Given the description of an element on the screen output the (x, y) to click on. 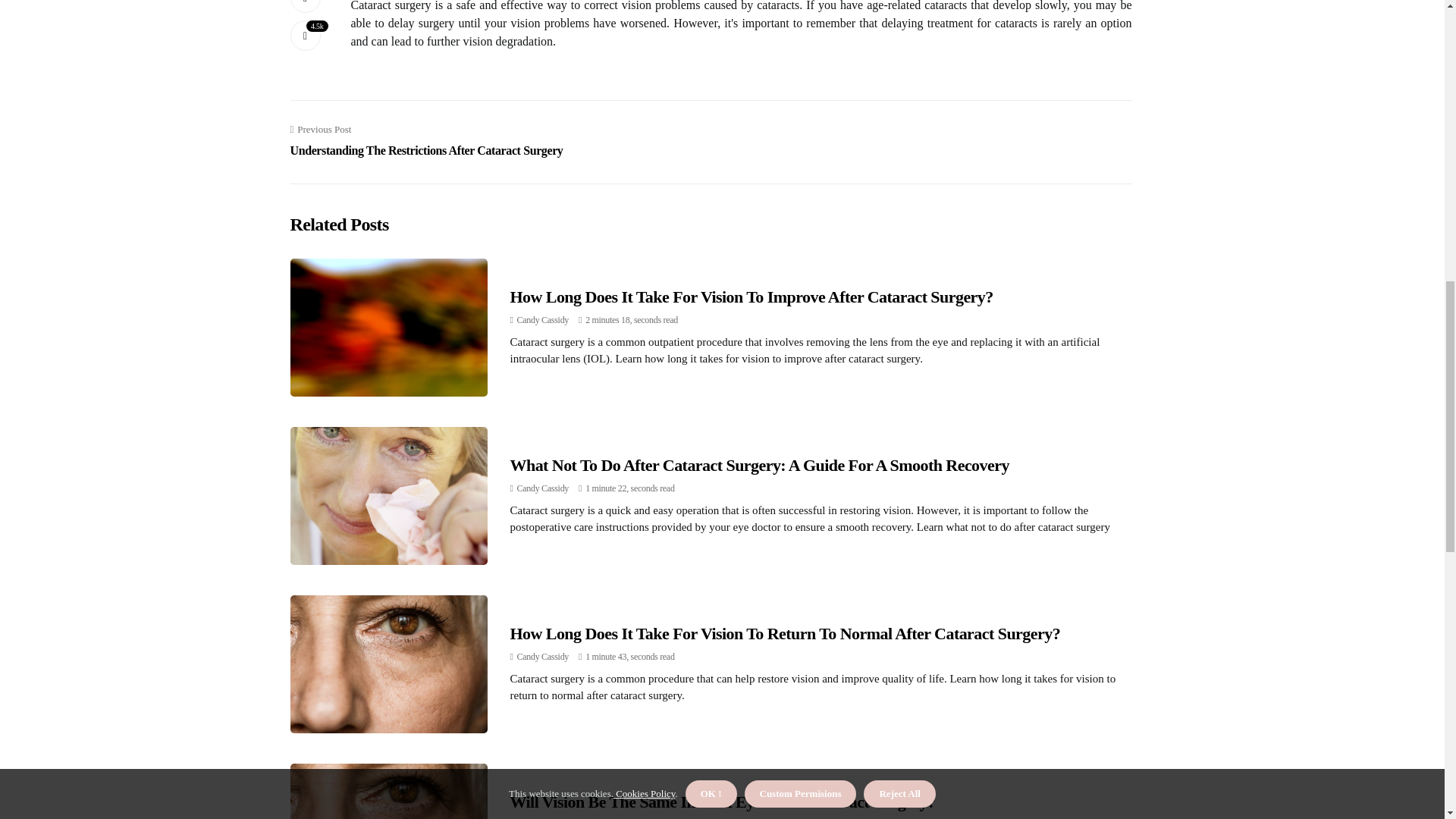
Posts by Candy Cassidy (542, 656)
Will Vision Be The Same In Both Eyes After Cataract Surgery? (721, 801)
Posts by Candy Cassidy (542, 319)
Candy Cassidy (542, 656)
Candy Cassidy (542, 319)
Posts by Candy Cassidy (542, 488)
Candy Cassidy (542, 488)
